Given the description of an element on the screen output the (x, y) to click on. 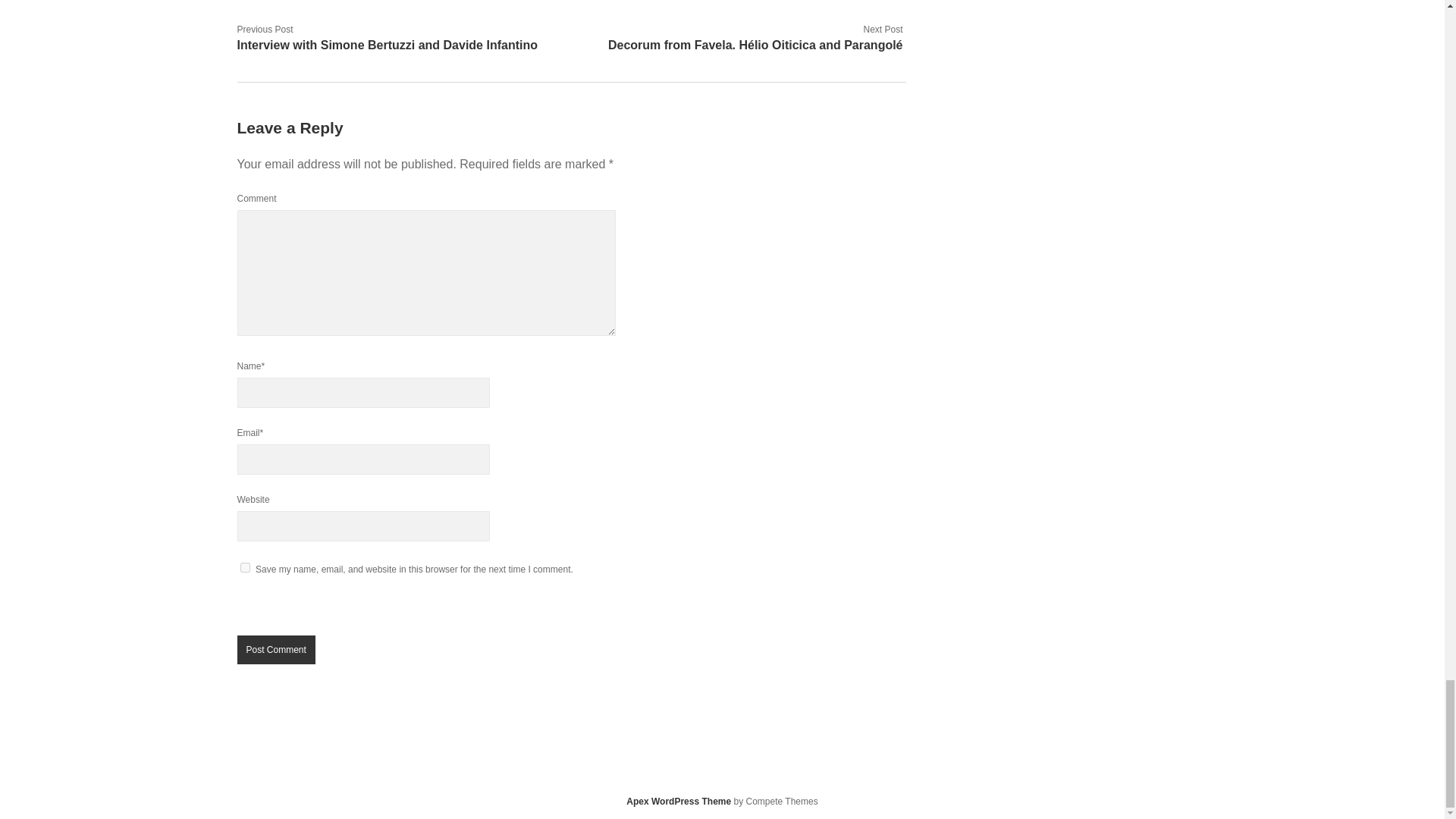
yes (244, 567)
Post Comment (274, 649)
Interview with Simone Bertuzzi and Davide Infantino (386, 44)
Post Comment (274, 649)
